Given the description of an element on the screen output the (x, y) to click on. 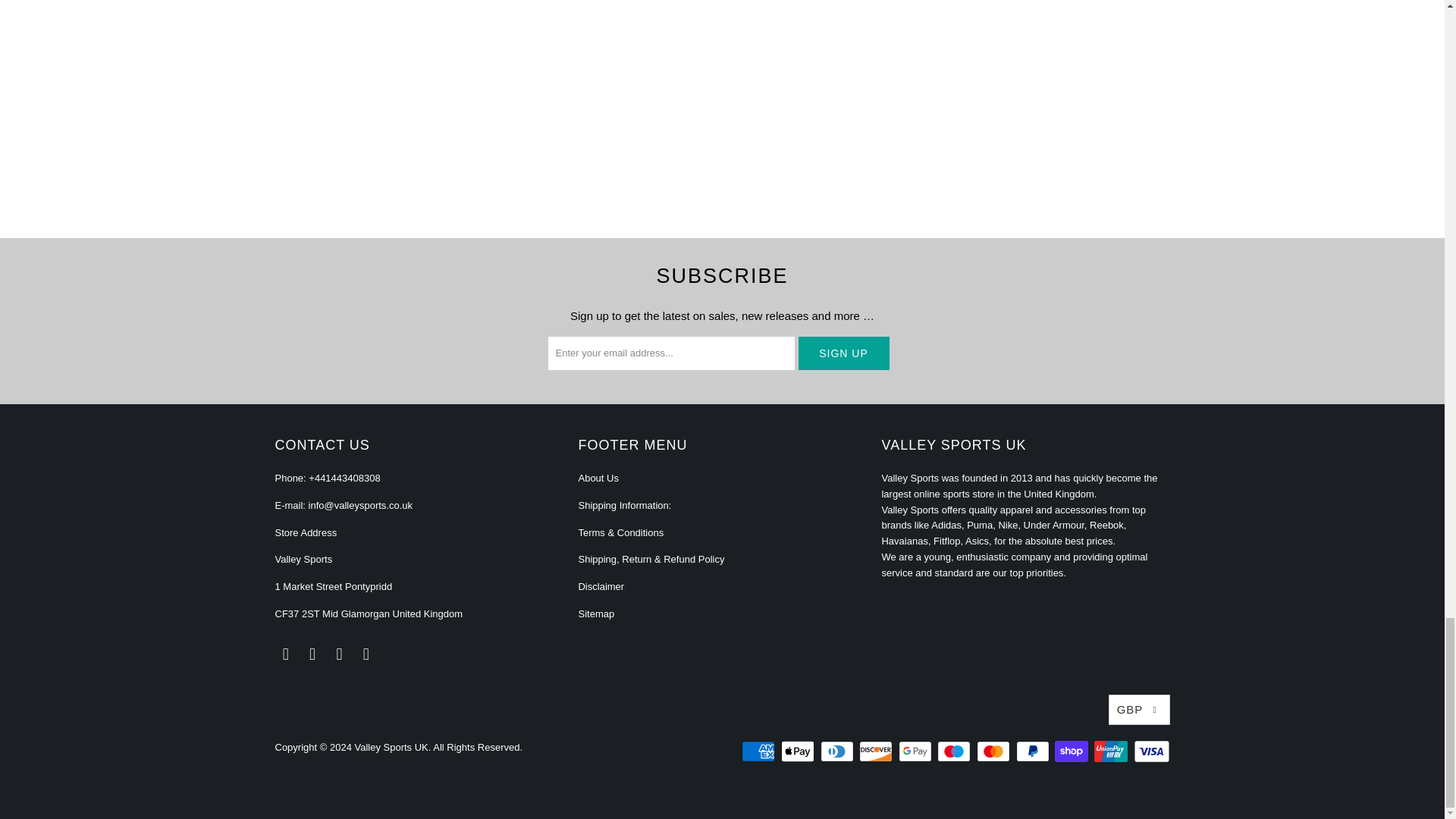
Union Pay (1112, 751)
Maestro (955, 751)
Valley Sports UK on Twitter (286, 654)
Visa (1150, 751)
Diners Club (839, 751)
Discover (877, 751)
Valley Sports UK on Facebook (312, 654)
American Express (759, 751)
Apple Pay (798, 751)
Mastercard (994, 751)
